Given the description of an element on the screen output the (x, y) to click on. 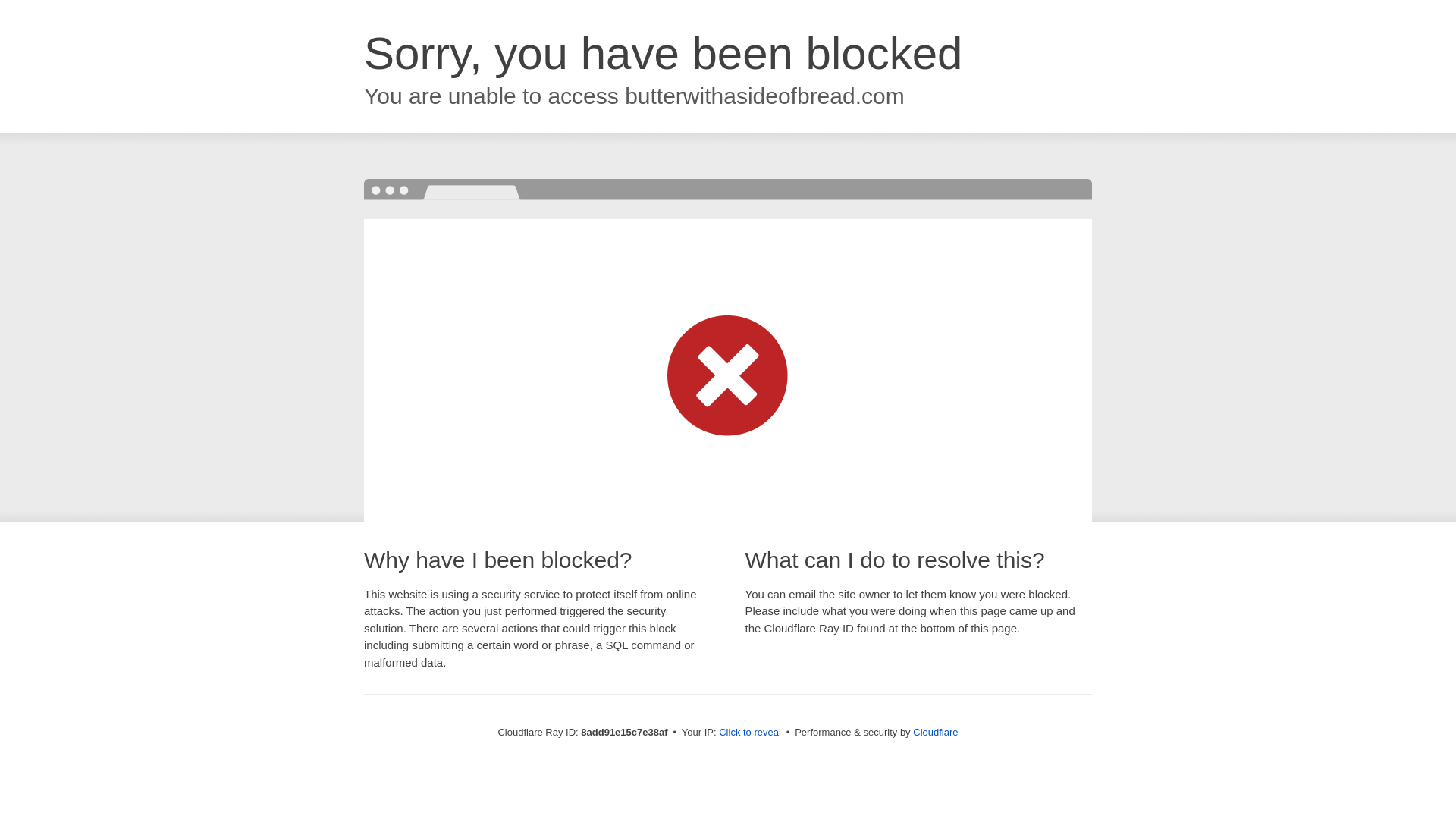
Cloudflare (935, 731)
Click to reveal (749, 732)
